Given the description of an element on the screen output the (x, y) to click on. 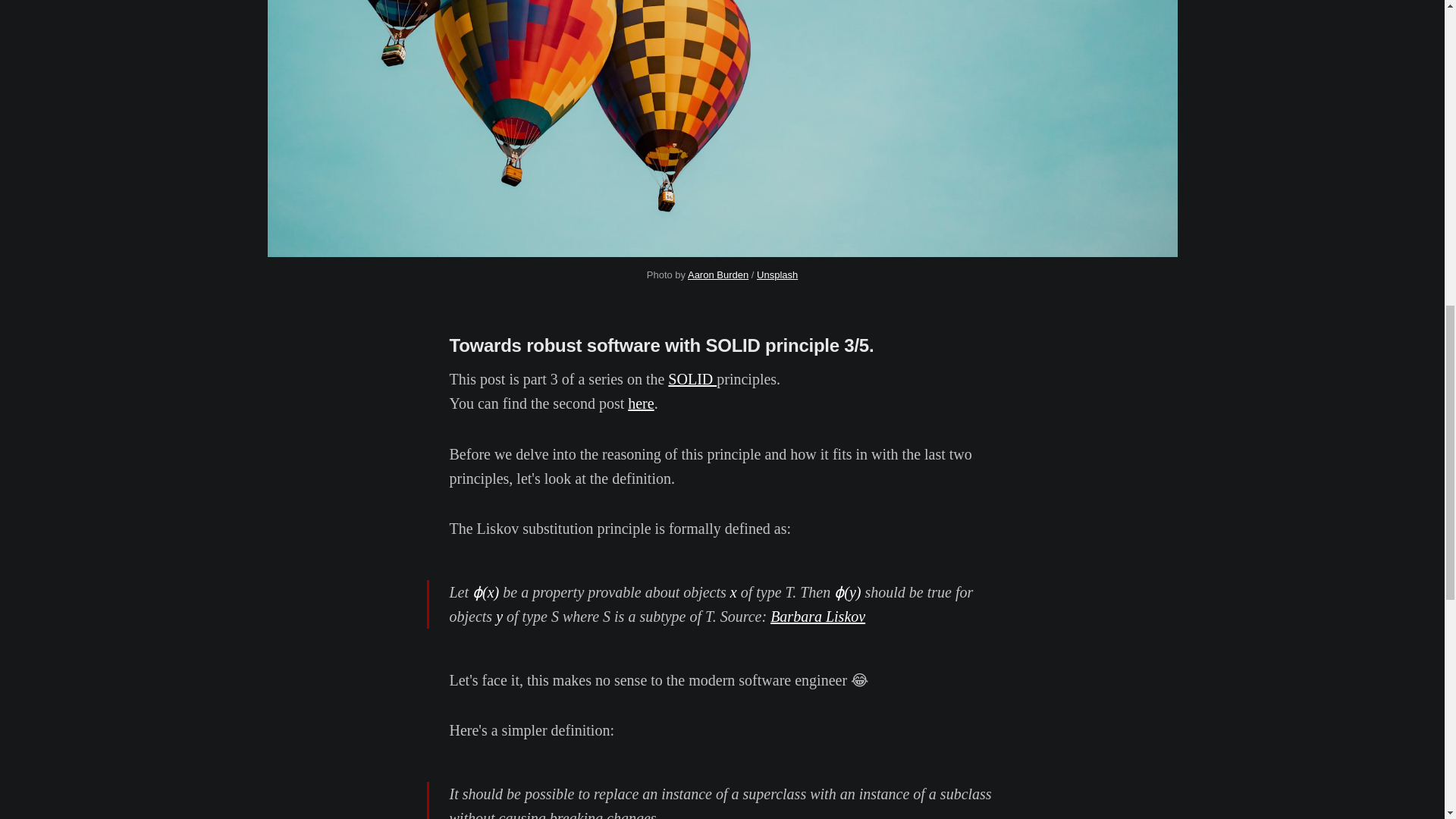
Aaron Burden (717, 274)
Barbara Liskov (817, 616)
Unsplash (777, 274)
SOLID (692, 379)
here (640, 402)
